Given the description of an element on the screen output the (x, y) to click on. 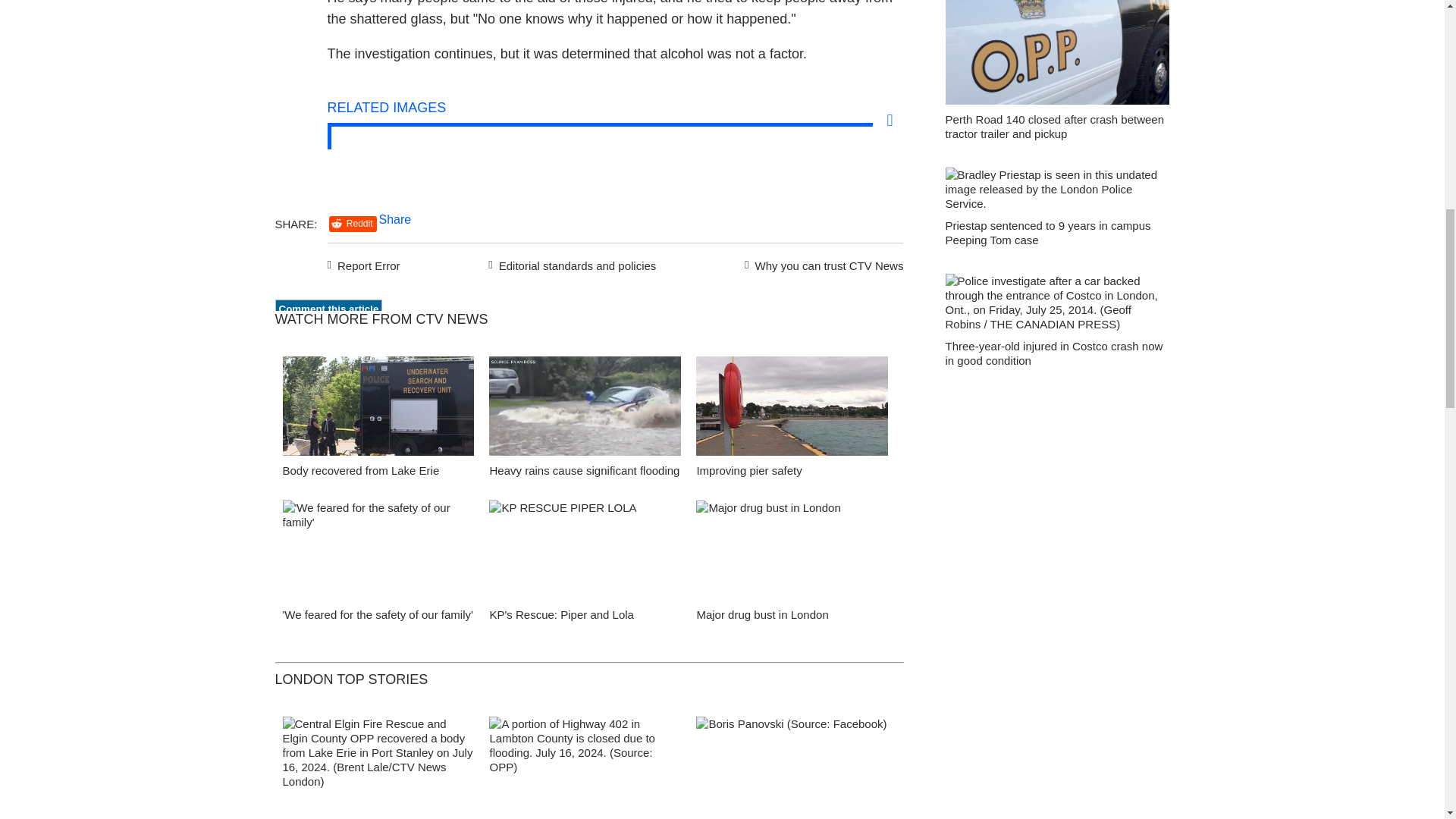
Reddit (353, 223)
Major drug bust in London (791, 554)
Heavy rains cause significant flooding (585, 410)
Report Error (363, 263)
Why you can trust CTV News (820, 263)
Boris Panovski (791, 767)
false (585, 405)
'We feared for the safety of our family' (378, 554)
false (791, 405)
opp - highway 402 - flooding - july 2024 (585, 767)
Heavy rains cause significant flooding (584, 470)
false (378, 549)
KP's Rescue: Piper and Lola (561, 614)
false (378, 405)
Improving pier safety (791, 410)
